Given the description of an element on the screen output the (x, y) to click on. 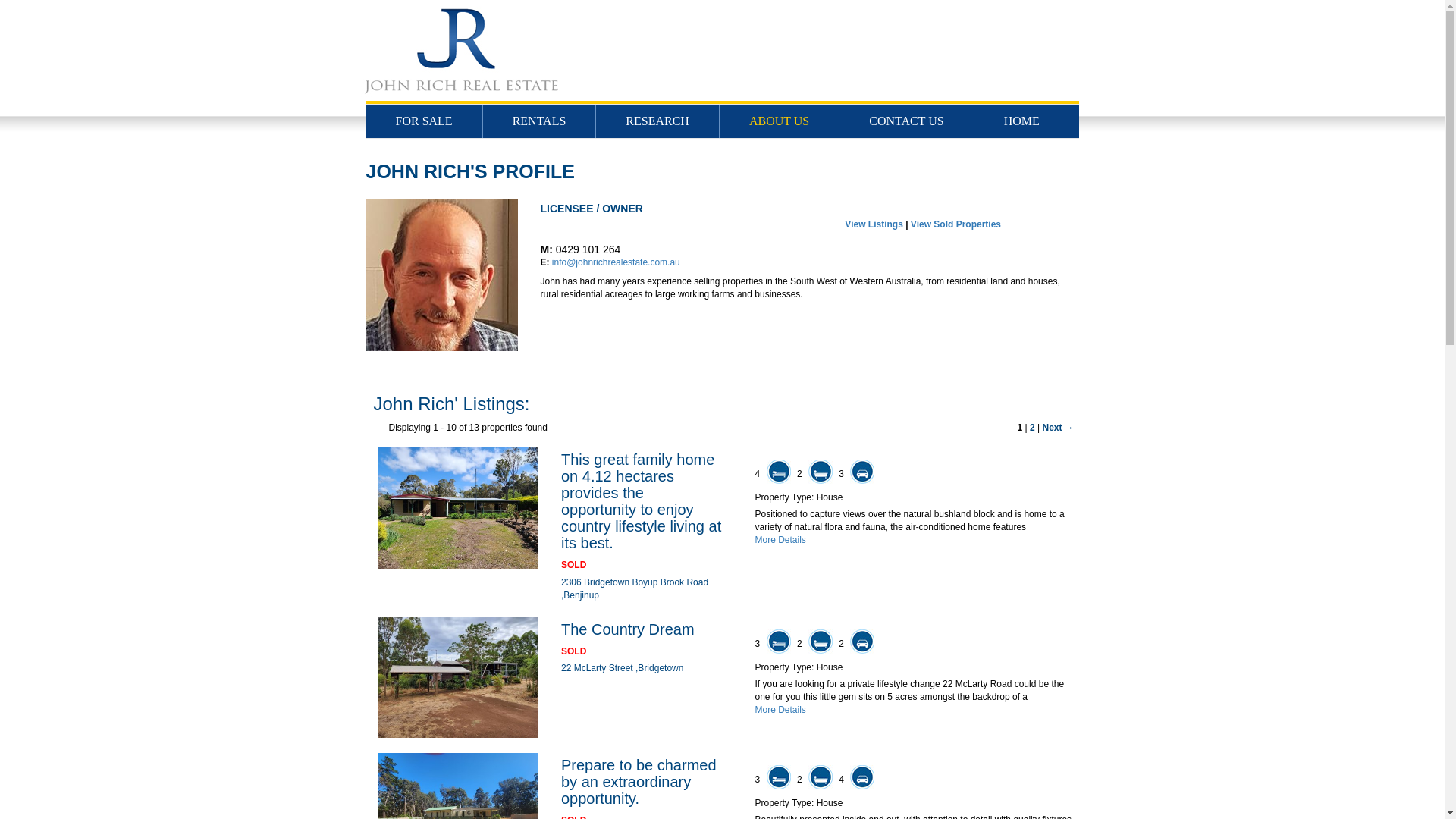
ABOUT US Element type: text (779, 121)
FOR SALE
(CURRENT) Element type: text (423, 121)
RENTALS Element type: text (539, 121)
More Details Element type: text (780, 709)
John Rich Real Estate Element type: hover (722, 50)
2 Element type: text (1032, 427)
Property for sale in Benjinup Element type: hover (458, 507)
View Listings Element type: text (873, 224)
More Details Element type: text (780, 539)
22 McLarty Street ,Bridgetown Element type: text (622, 667)
CONTACT US Element type: text (906, 121)
1 Element type: text (1019, 427)
HOME Element type: text (1021, 121)
Property for sale in Bridgetown Element type: hover (458, 677)
2306 Bridgetown Boyup Brook Road ,Benjinup Element type: text (634, 588)
RESEARCH Element type: text (657, 121)
The Country Dream Element type: text (627, 629)
info@johnrichrealestate.com.au Element type: text (616, 262)
John Rich Element type: hover (441, 275)
View Sold Properties Element type: text (955, 224)
Prepare to be charmed by an extraordinary opportunity. Element type: text (638, 781)
